Given the description of an element on the screen output the (x, y) to click on. 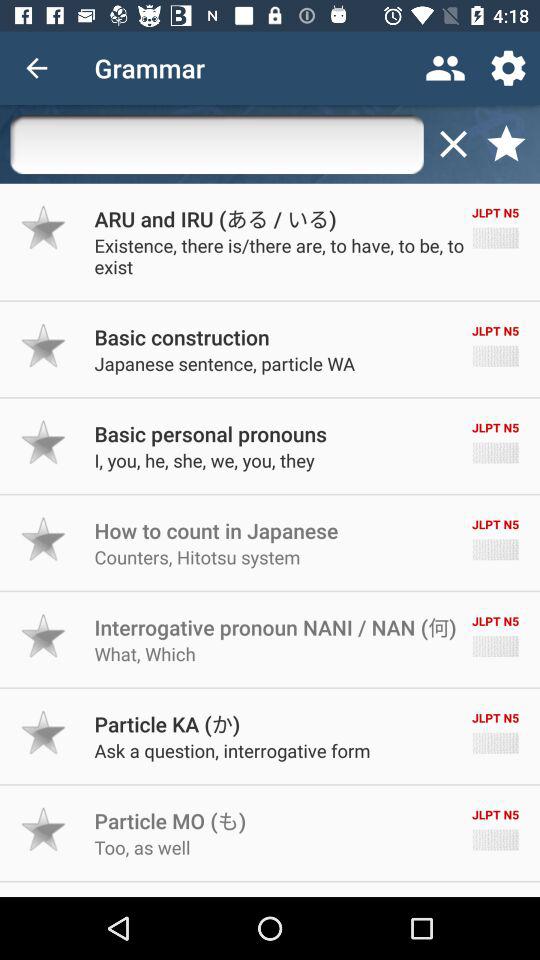
scroll until the i you he item (204, 460)
